Given the description of an element on the screen output the (x, y) to click on. 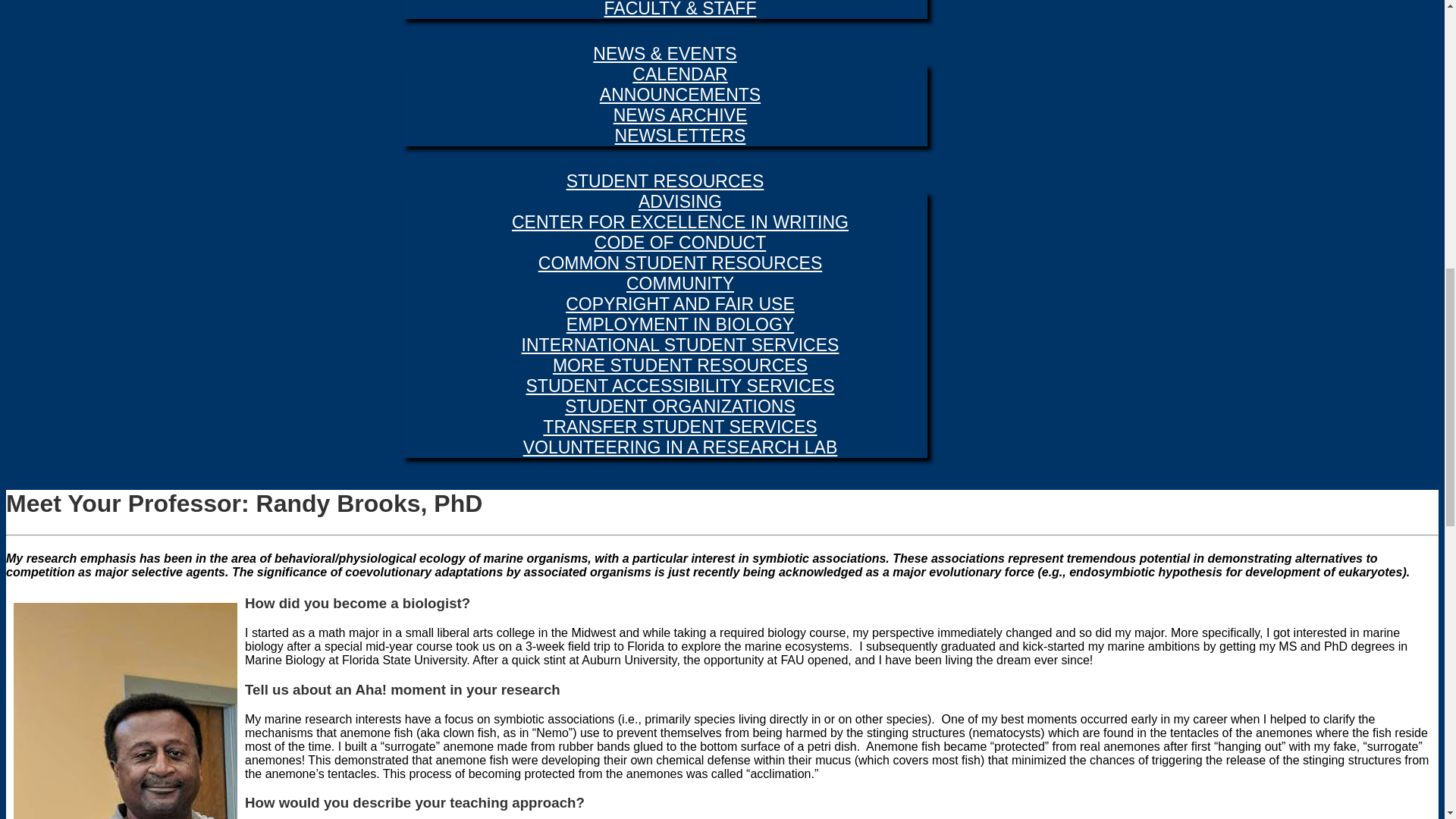
CALENDAR (678, 70)
Copyright and Fair Use (680, 299)
Community Life (679, 279)
NEWS ARCHIVE (680, 111)
index-graduate (680, 9)
ANNOUNCEMENTS (679, 90)
